Given the description of an element on the screen output the (x, y) to click on. 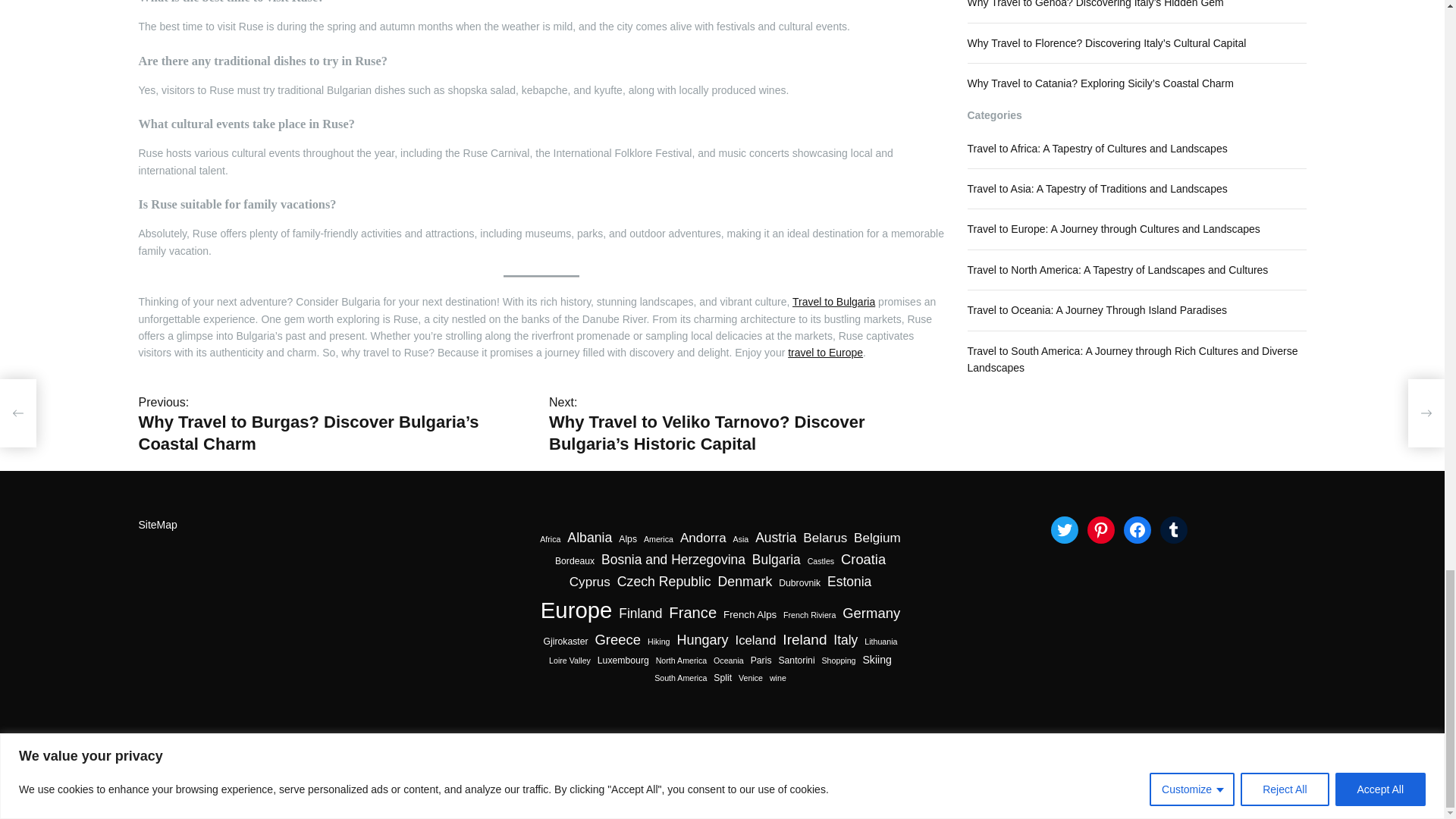
Travel to Bulgaria (833, 301)
